Given the description of an element on the screen output the (x, y) to click on. 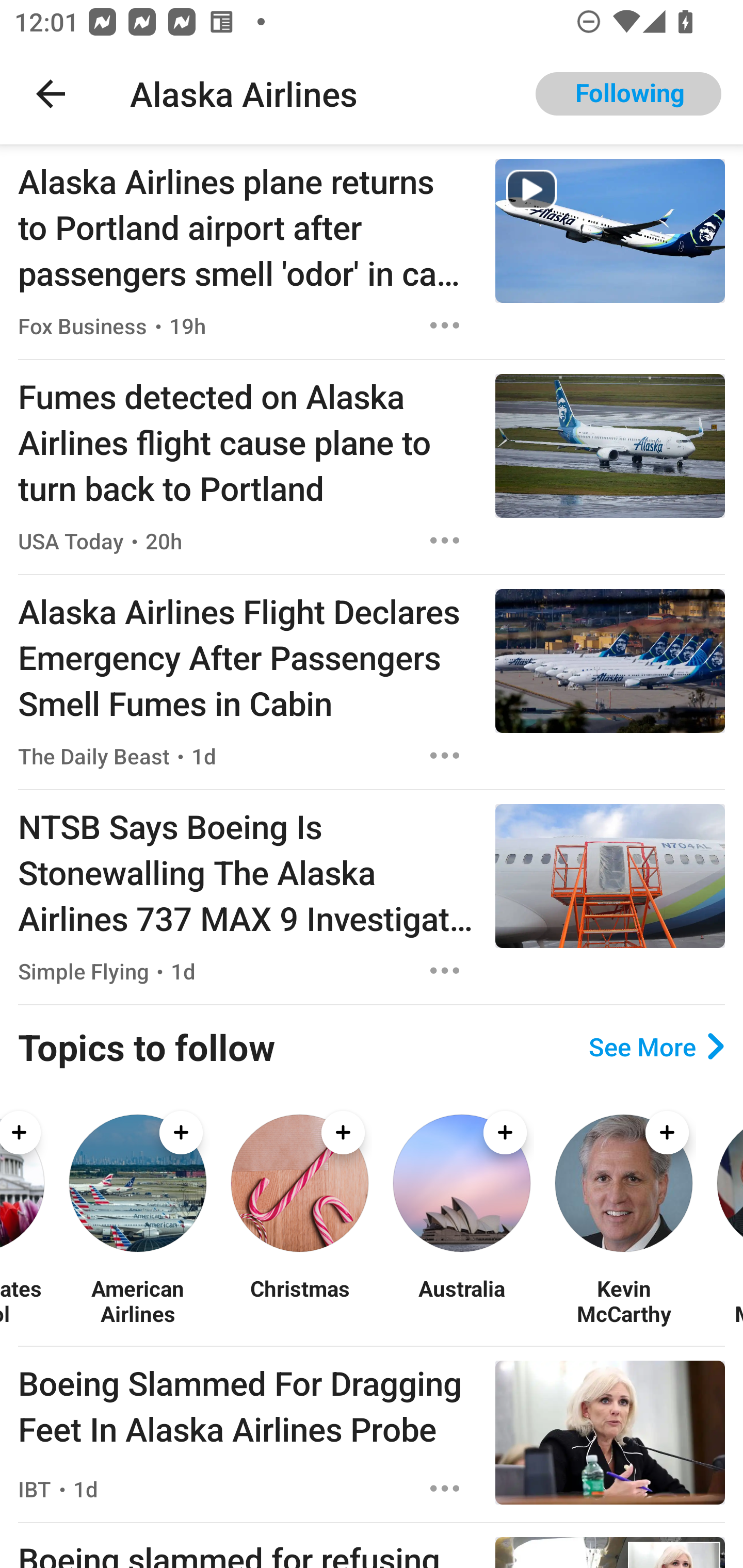
Navigate up (50, 93)
Following (628, 94)
Options (444, 325)
Options (444, 540)
Options (444, 755)
Options (444, 970)
See More (656, 1046)
American Airlines (137, 1300)
Christmas (299, 1300)
Australia (461, 1300)
Kevin McCarthy (623, 1300)
Options (444, 1488)
